Given the description of an element on the screen output the (x, y) to click on. 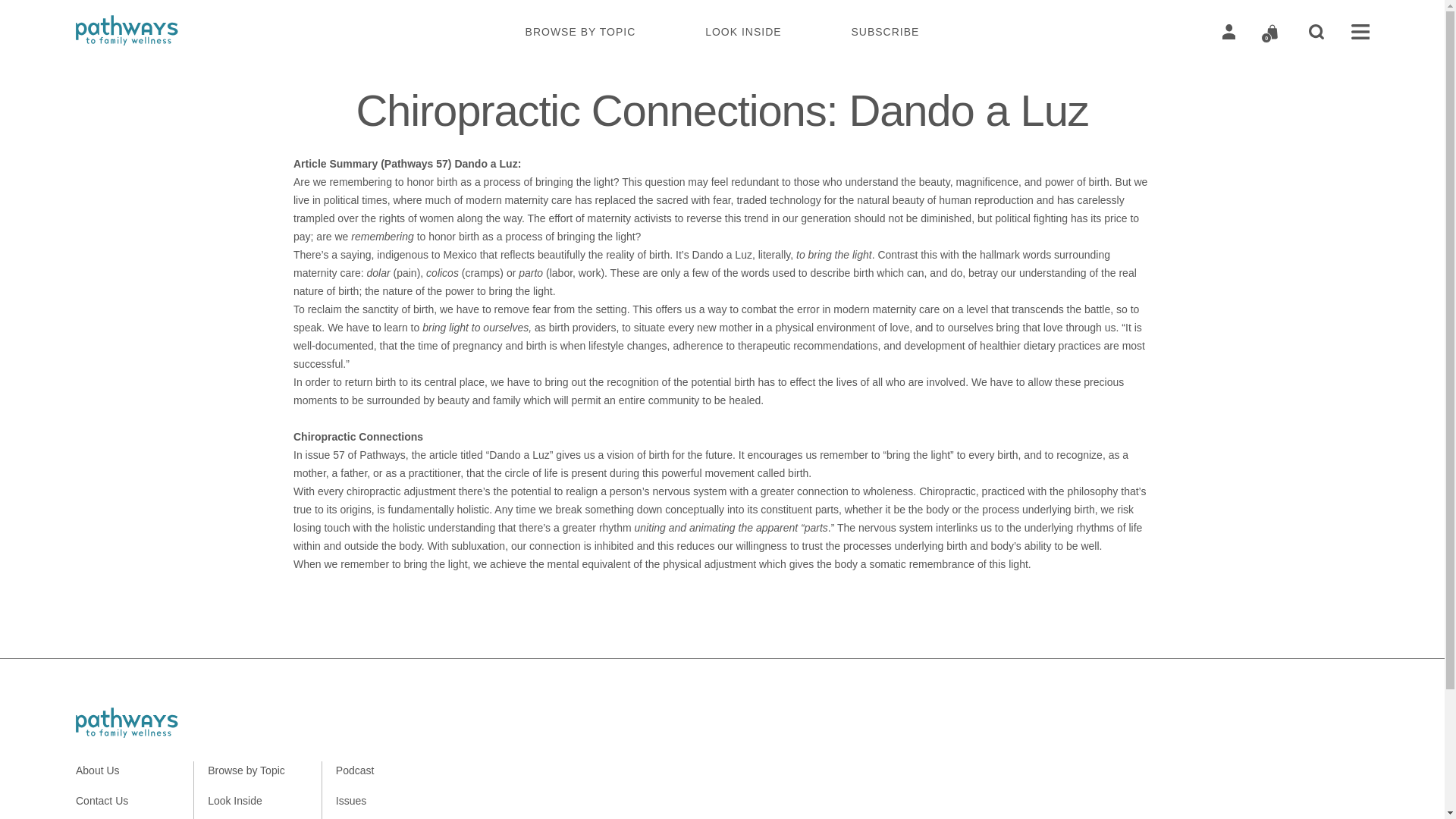
SUBSCRIBE (884, 31)
Browse by Topic (246, 770)
Contact Us (101, 800)
About Us (97, 770)
0 (1272, 31)
Look Inside (235, 800)
LOOK INSIDE (742, 31)
Issues (351, 800)
BROWSE BY TOPIC (580, 31)
Podcast (355, 770)
